Given the description of an element on the screen output the (x, y) to click on. 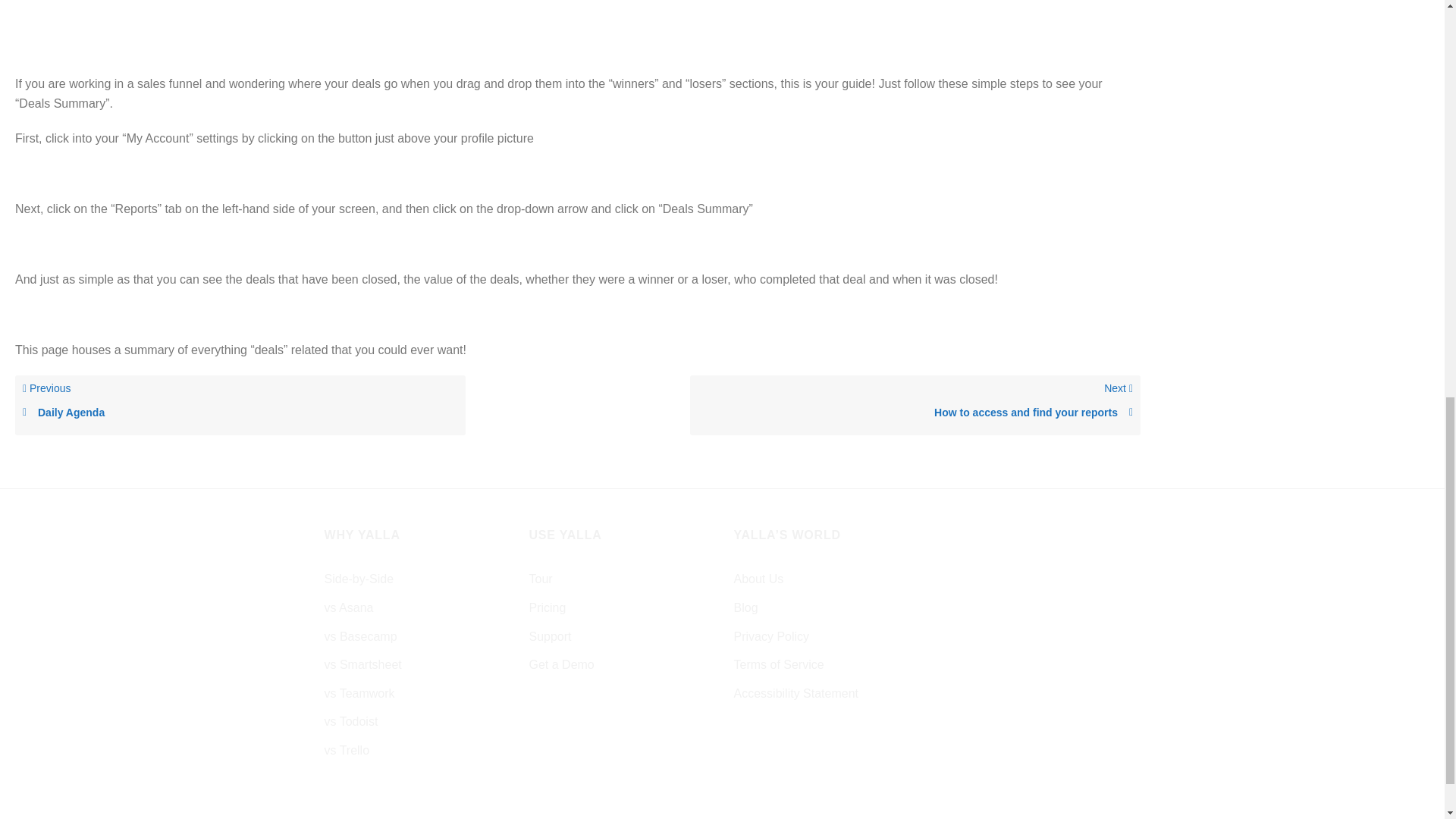
Side-by-Side (359, 579)
How to access and find your reports (914, 412)
Terms of Service (778, 664)
Privacy Policy (771, 636)
vs Asana (915, 404)
Pricing (349, 607)
vs Smartsheet (547, 607)
vs Basecamp (362, 664)
